Given the description of an element on the screen output the (x, y) to click on. 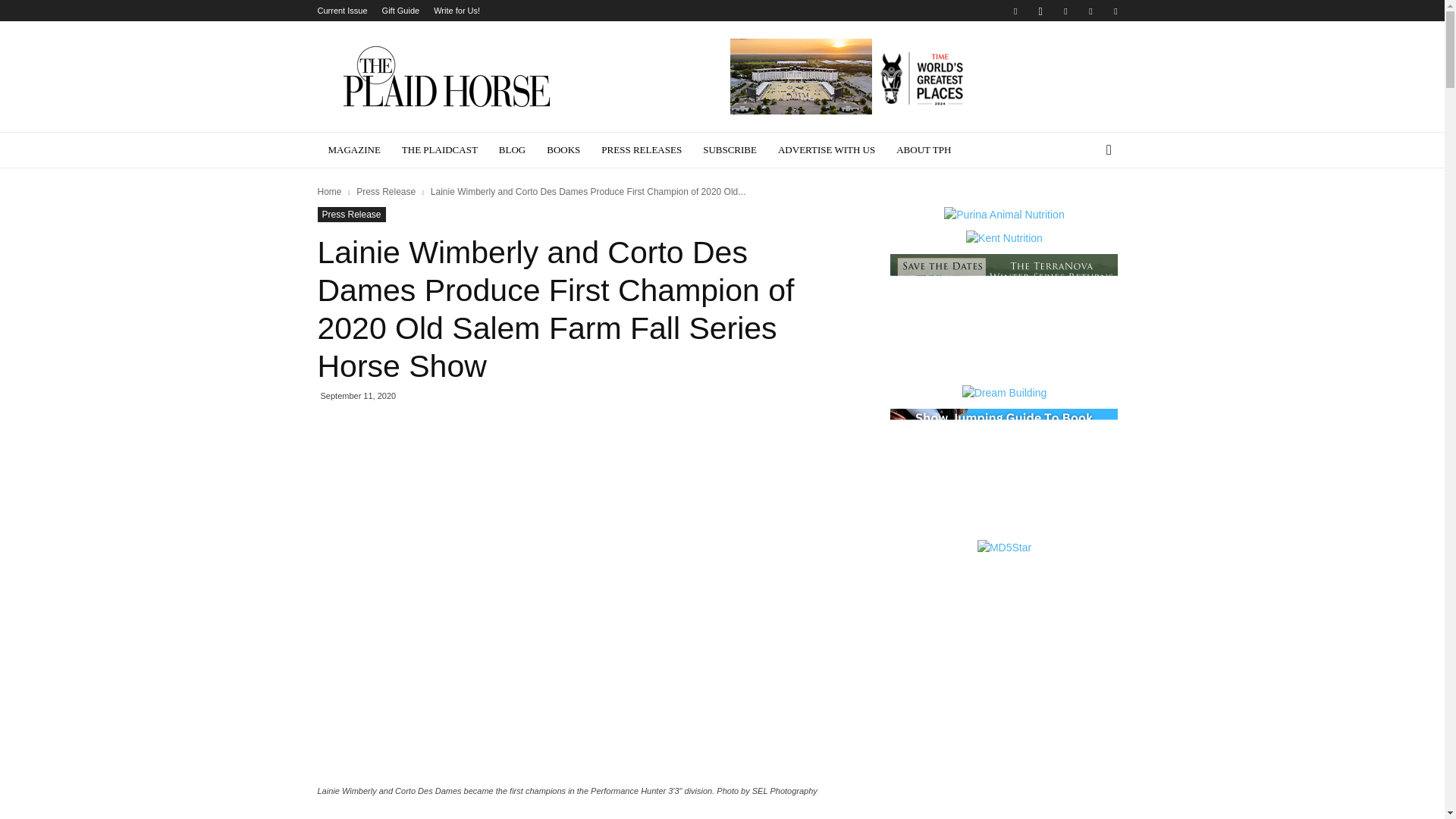
Facebook (1015, 10)
Instagram (1040, 10)
Pinterest (1090, 10)
Gift Guide (400, 10)
Write for Us! (456, 10)
TikTok (1114, 10)
Current Issue (341, 10)
Linkedin (1065, 10)
